Given the description of an element on the screen output the (x, y) to click on. 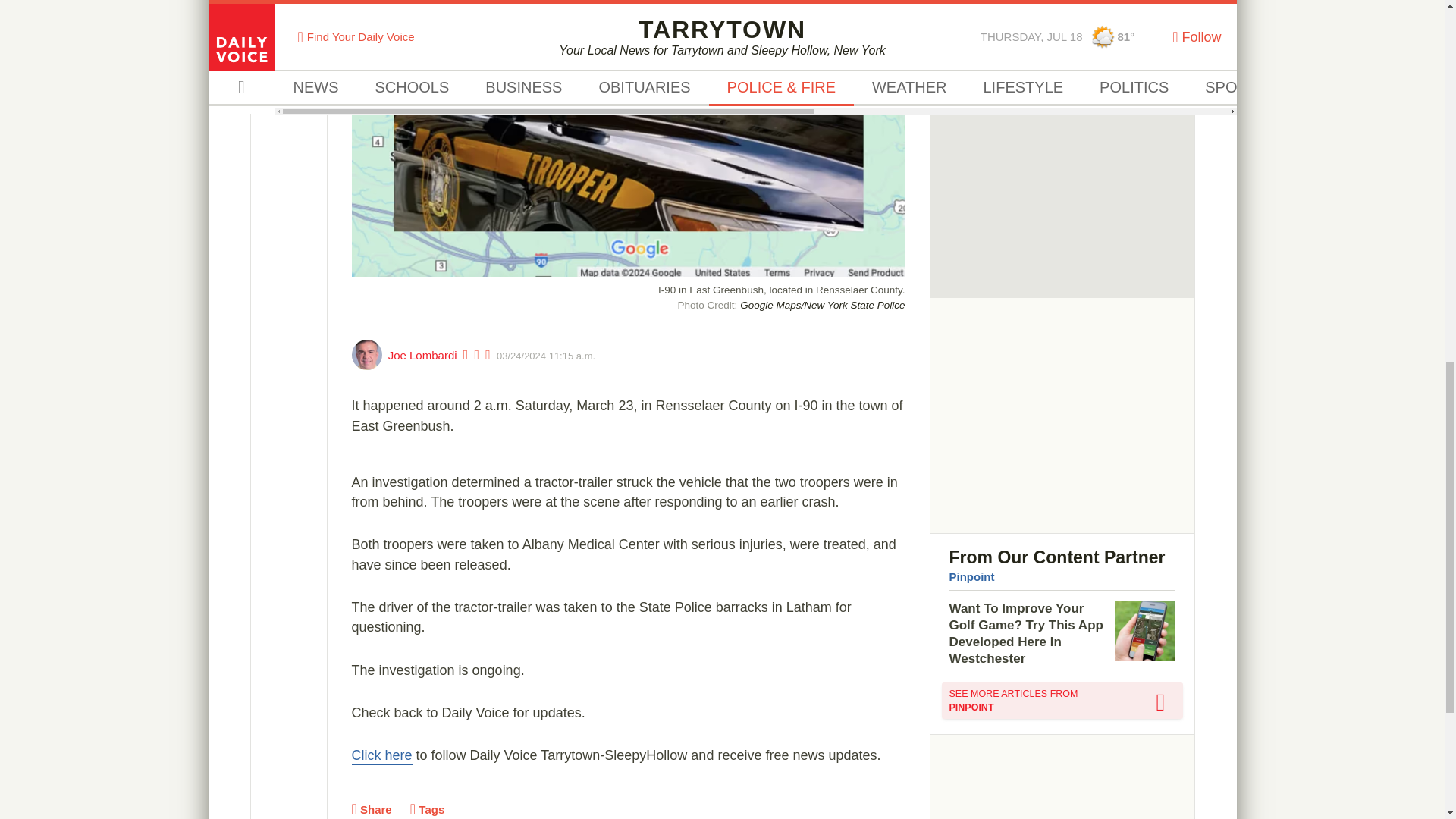
More from Pinpoint (1062, 700)
